Given the description of an element on the screen output the (x, y) to click on. 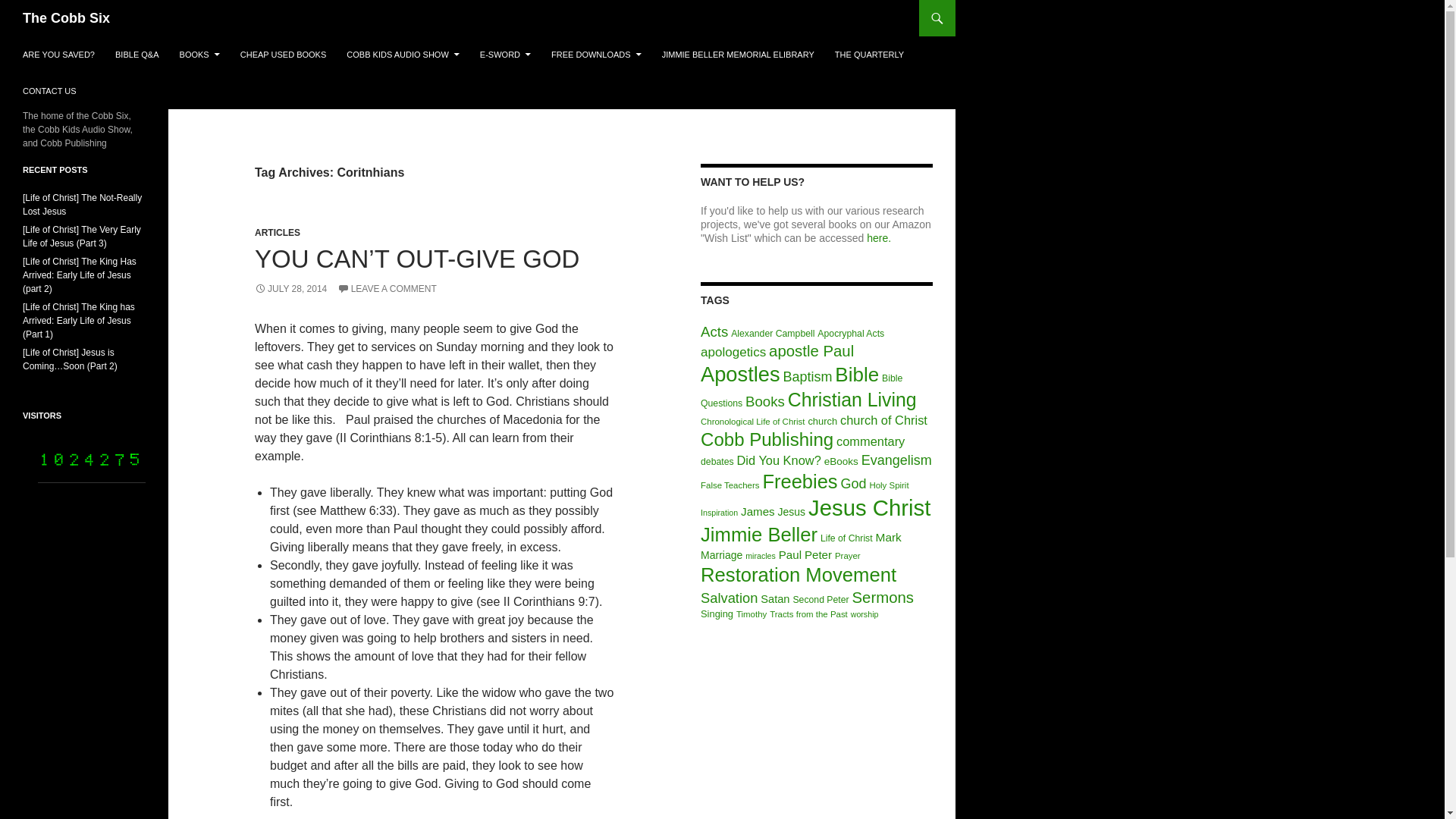
COBB KIDS AUDIO SHOW (402, 54)
ARE YOU SAVED? (58, 54)
BOOKS (199, 54)
CHEAP USED BOOKS (283, 54)
The Cobb Six (66, 18)
